Given the description of an element on the screen output the (x, y) to click on. 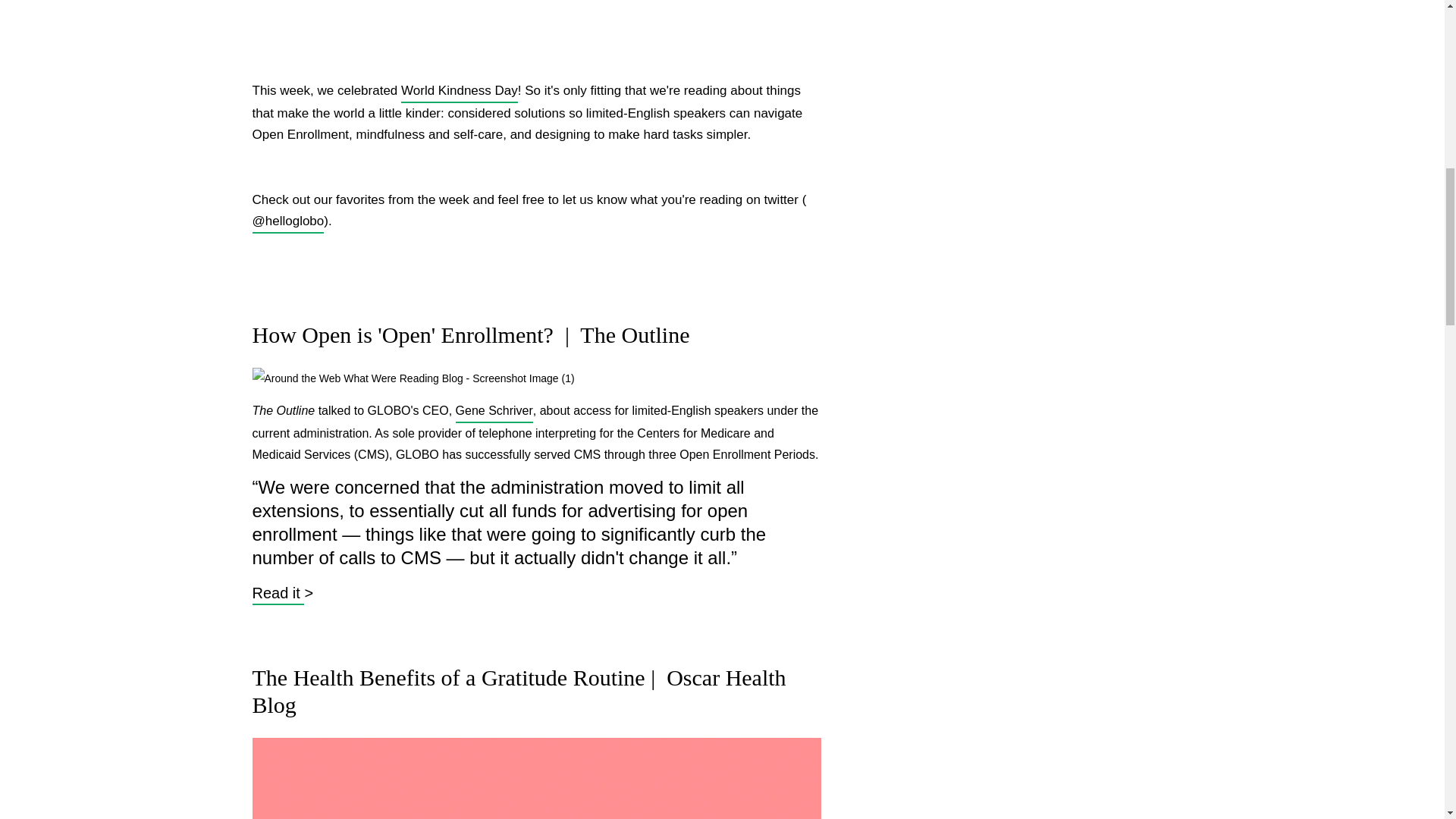
Gene Schriver (493, 411)
Read it  (277, 593)
World Kindness Day (459, 91)
